Given the description of an element on the screen output the (x, y) to click on. 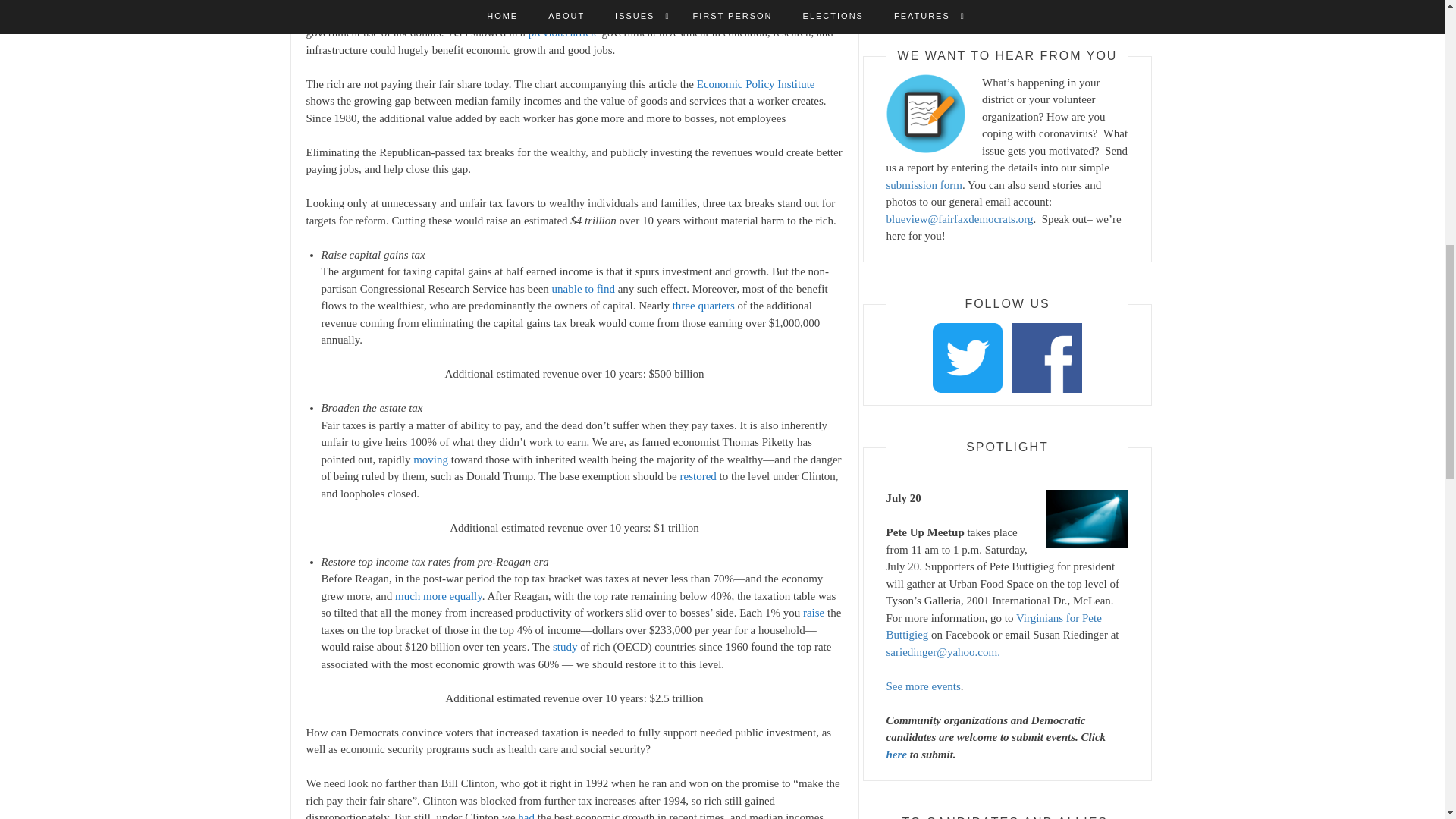
raise (813, 612)
moving (430, 459)
restored (697, 476)
Economic Policy Institute (756, 83)
study (565, 646)
submission form (922, 184)
had (526, 815)
much more equally (437, 595)
FCDC Calendar (993, 2)
three quarters (703, 305)
unable to find (582, 288)
previous article (563, 32)
